Given the description of an element on the screen output the (x, y) to click on. 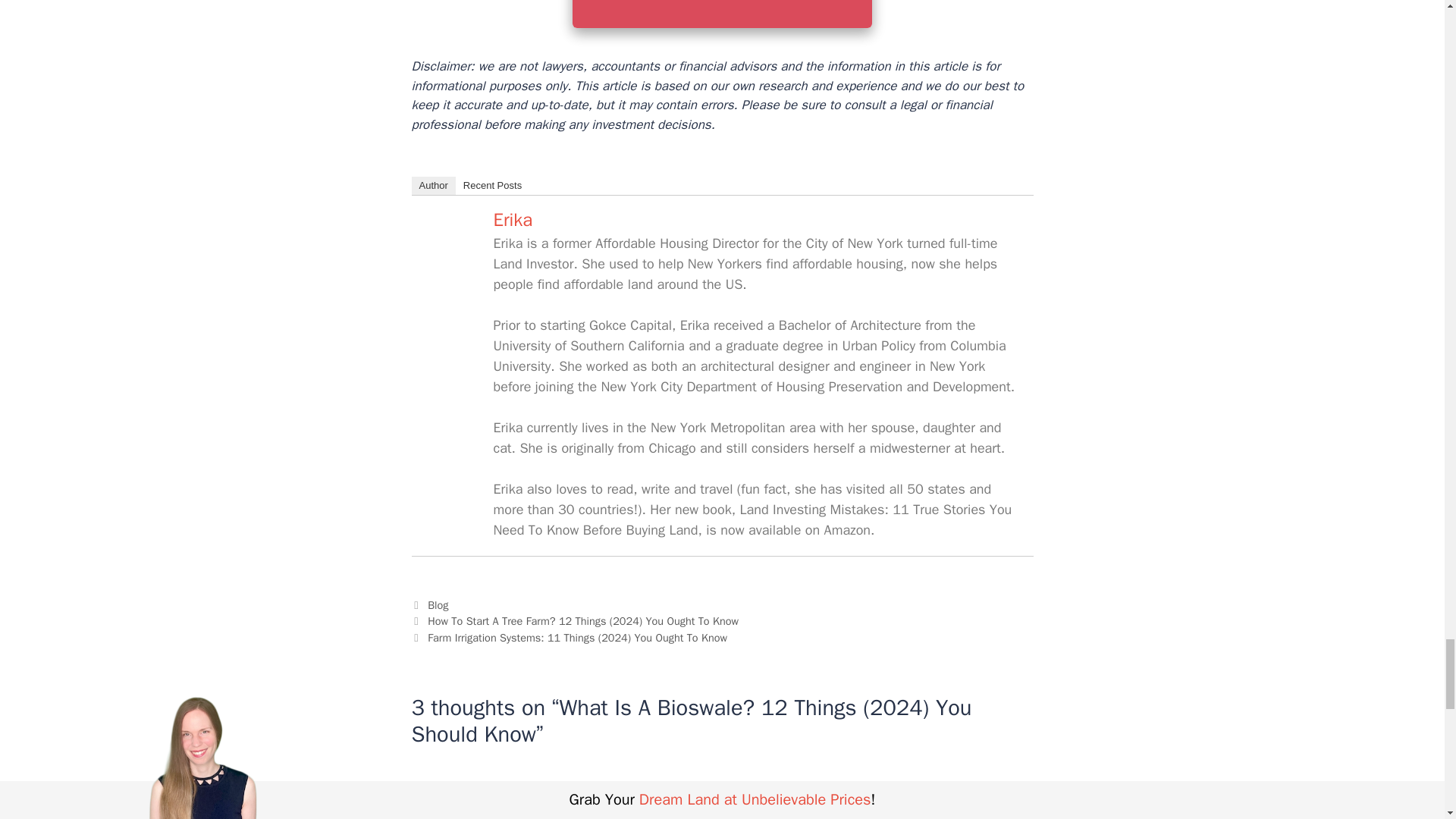
SUBSCRIBE NOW (722, 13)
Author (432, 185)
Recent Posts (492, 185)
Erika (450, 274)
